Given the description of an element on the screen output the (x, y) to click on. 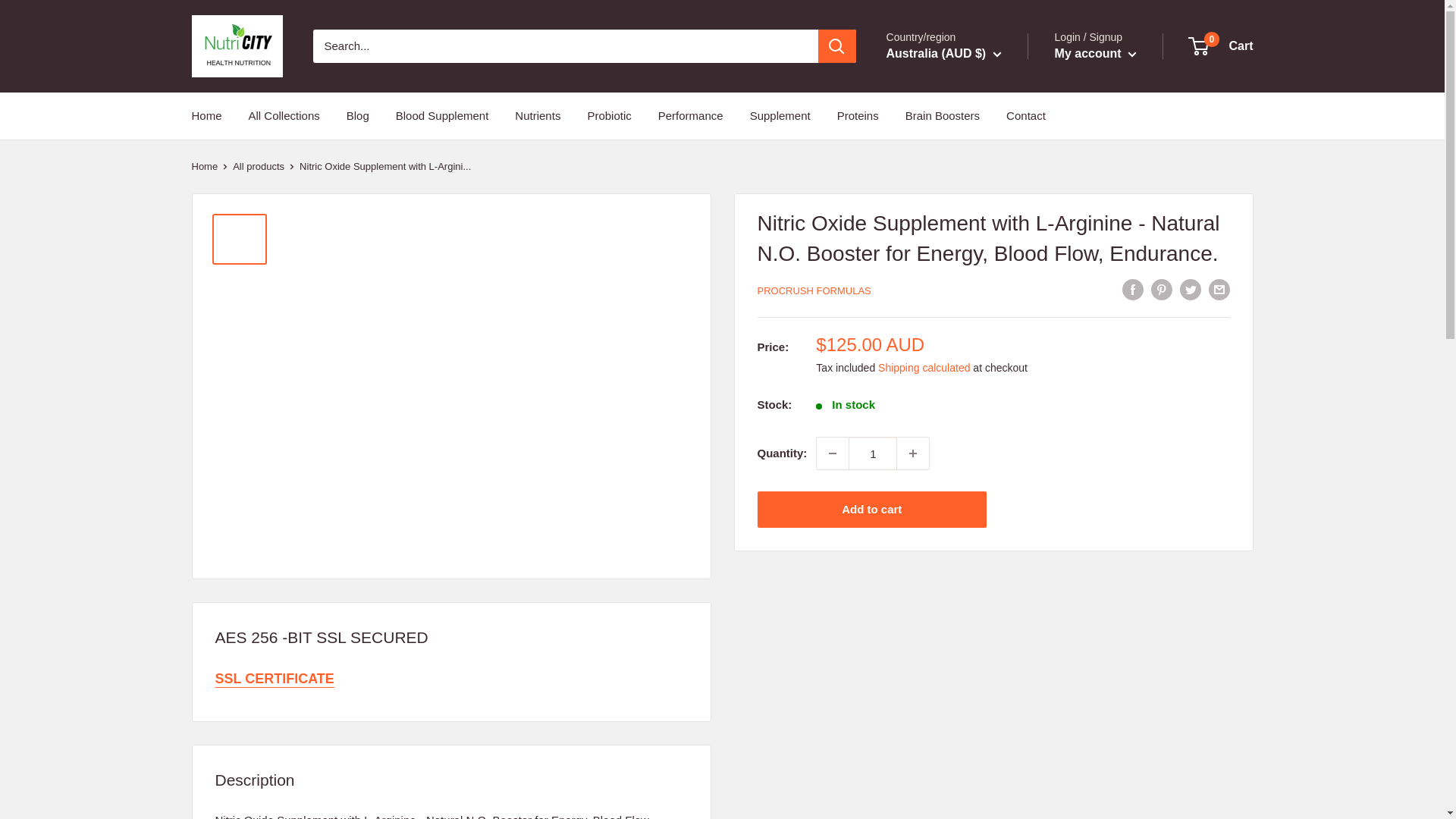
BE (923, 146)
nutricity.com.au (236, 45)
Decrease quantity by 1 (832, 453)
IL (923, 343)
CA (923, 168)
AT (923, 124)
NZ (923, 452)
FI (923, 233)
PL (923, 495)
IT (923, 364)
